Given the description of an element on the screen output the (x, y) to click on. 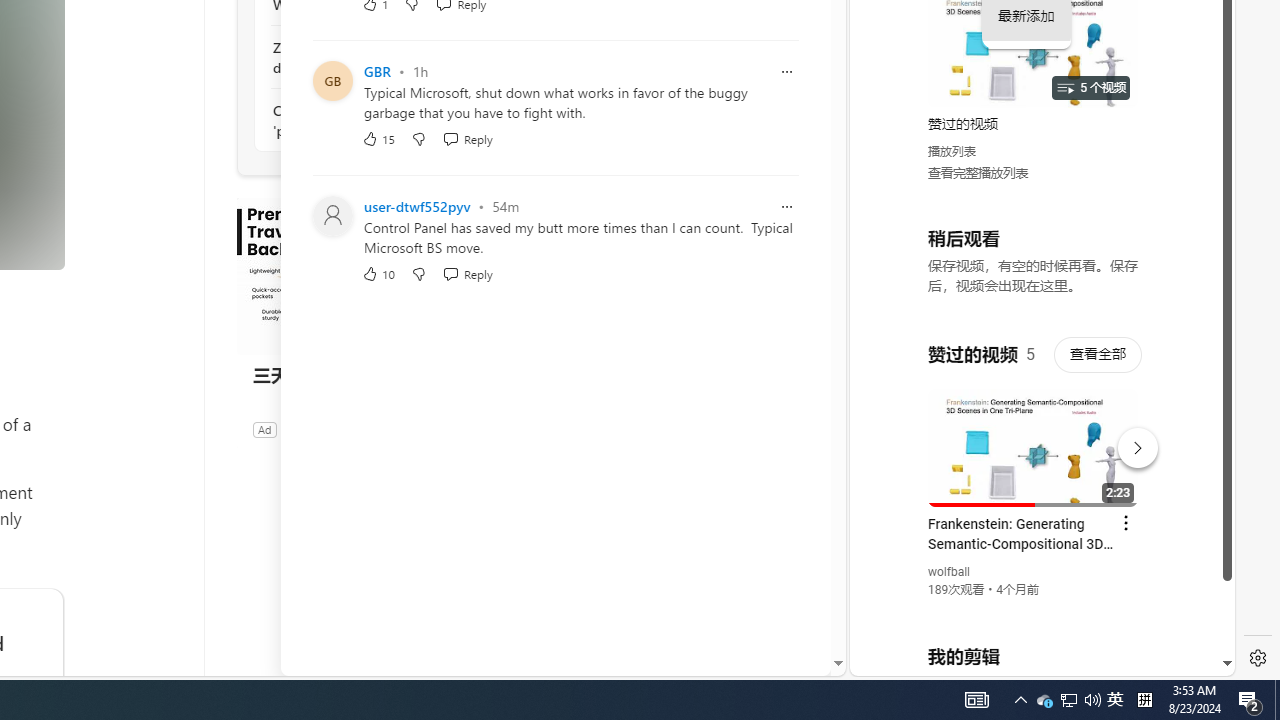
Report comment (786, 206)
YouTube (1034, 432)
15 Like (378, 138)
YouTube - YouTube (1034, 266)
